Given the description of an element on the screen output the (x, y) to click on. 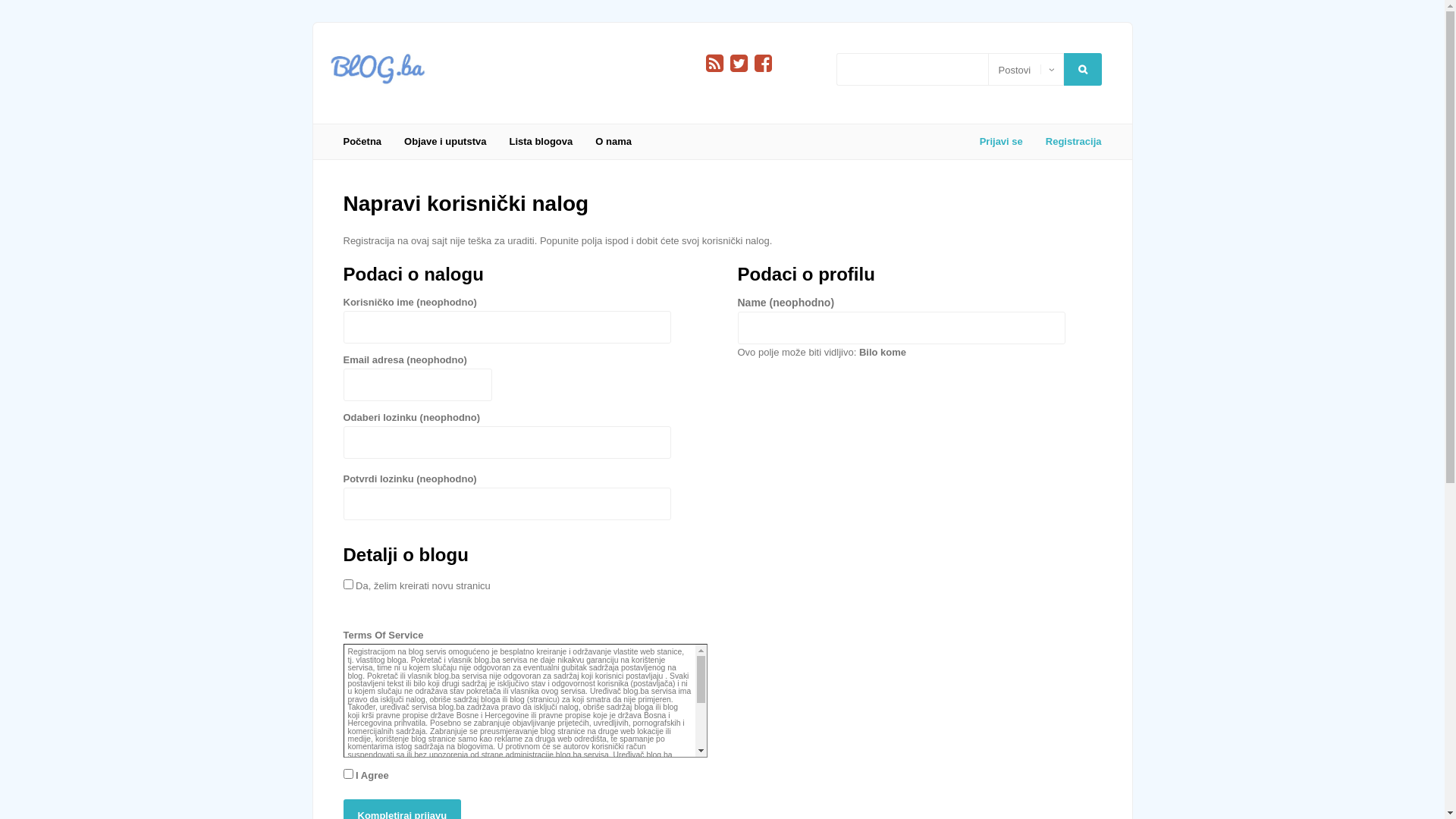
O nama Element type: text (613, 141)
RSS Feed Element type: hover (714, 63)
Registracija Element type: text (1067, 141)
Objave i uputstva Element type: text (444, 141)
Prijavi se Element type: text (63, 232)
Twitter Element type: hover (738, 63)
creativecommons.org Element type: text (384, 794)
Prijavi se Element type: text (1001, 141)
Facebook Element type: hover (762, 63)
Lista blogova Element type: text (540, 141)
